Given the description of an element on the screen output the (x, y) to click on. 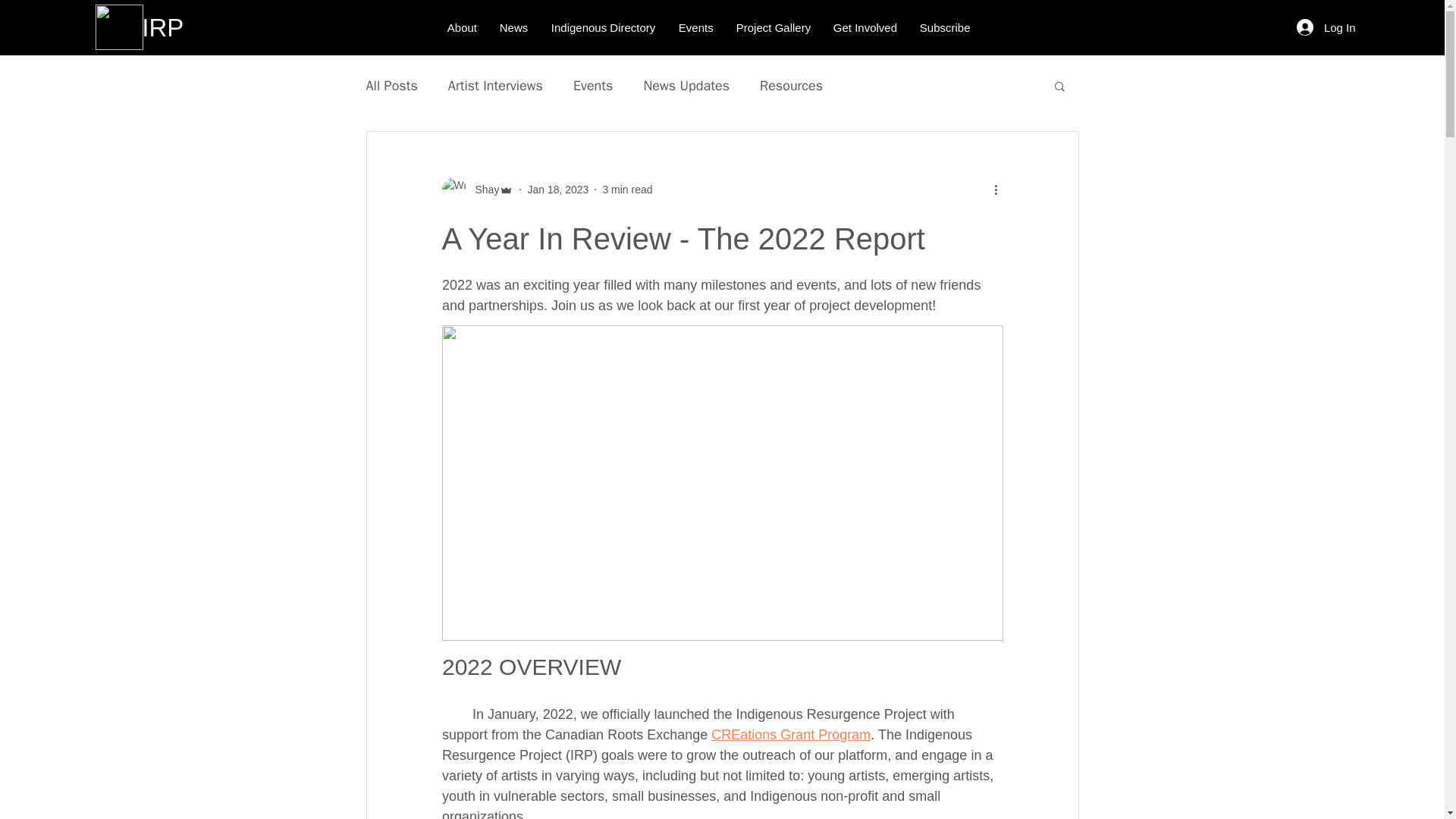
Resources (791, 85)
Log In (1326, 27)
CREations Grant Program (790, 734)
News Updates (686, 85)
Events (592, 85)
Get Involved (865, 28)
Subscribe (944, 28)
Events (695, 28)
3 min read (627, 189)
Shay (482, 189)
